Given the description of an element on the screen output the (x, y) to click on. 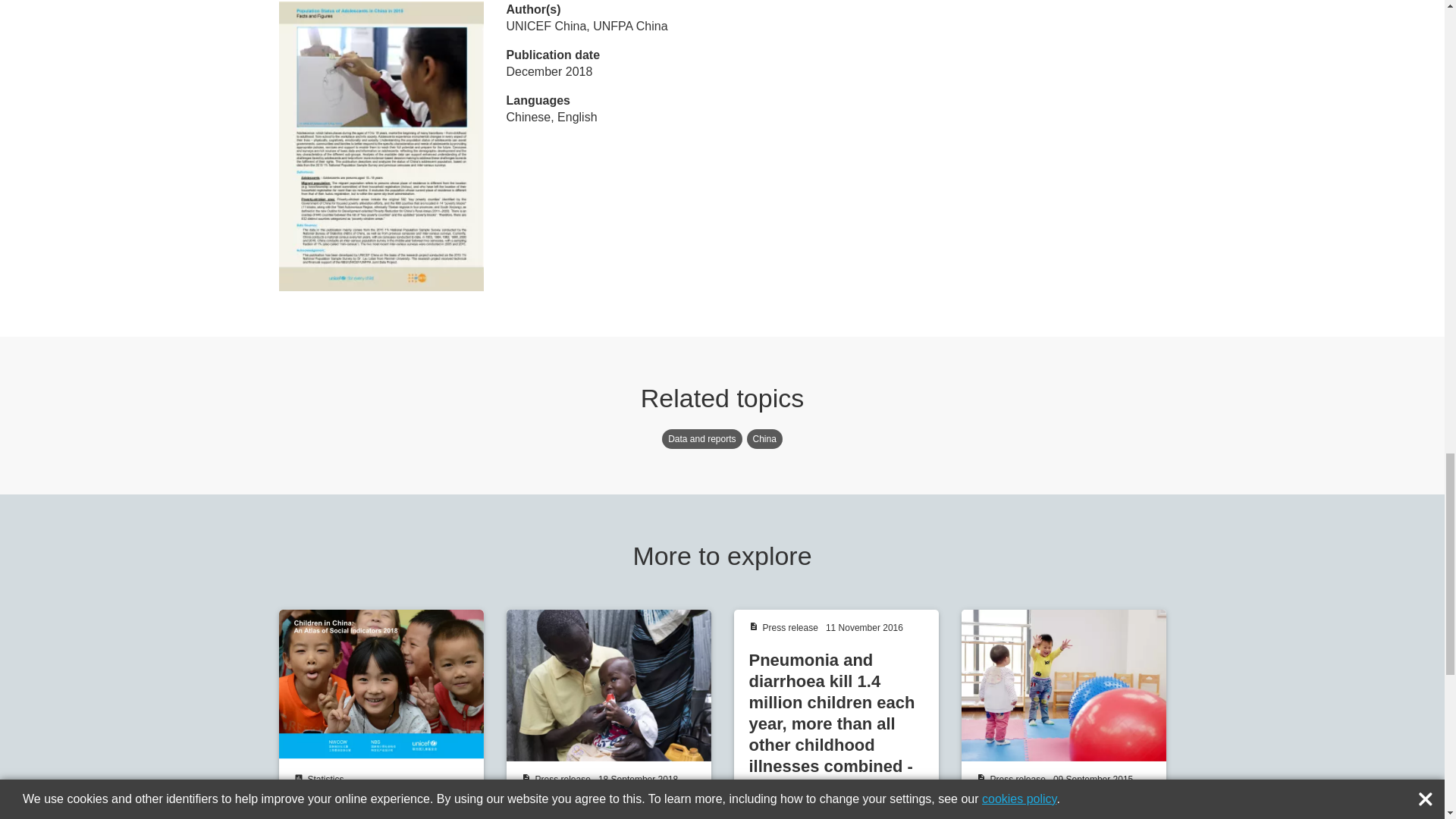
Data and reports (701, 438)
China (764, 438)
An Atlas of Social Indicators of Children in China (381, 714)
